Given the description of an element on the screen output the (x, y) to click on. 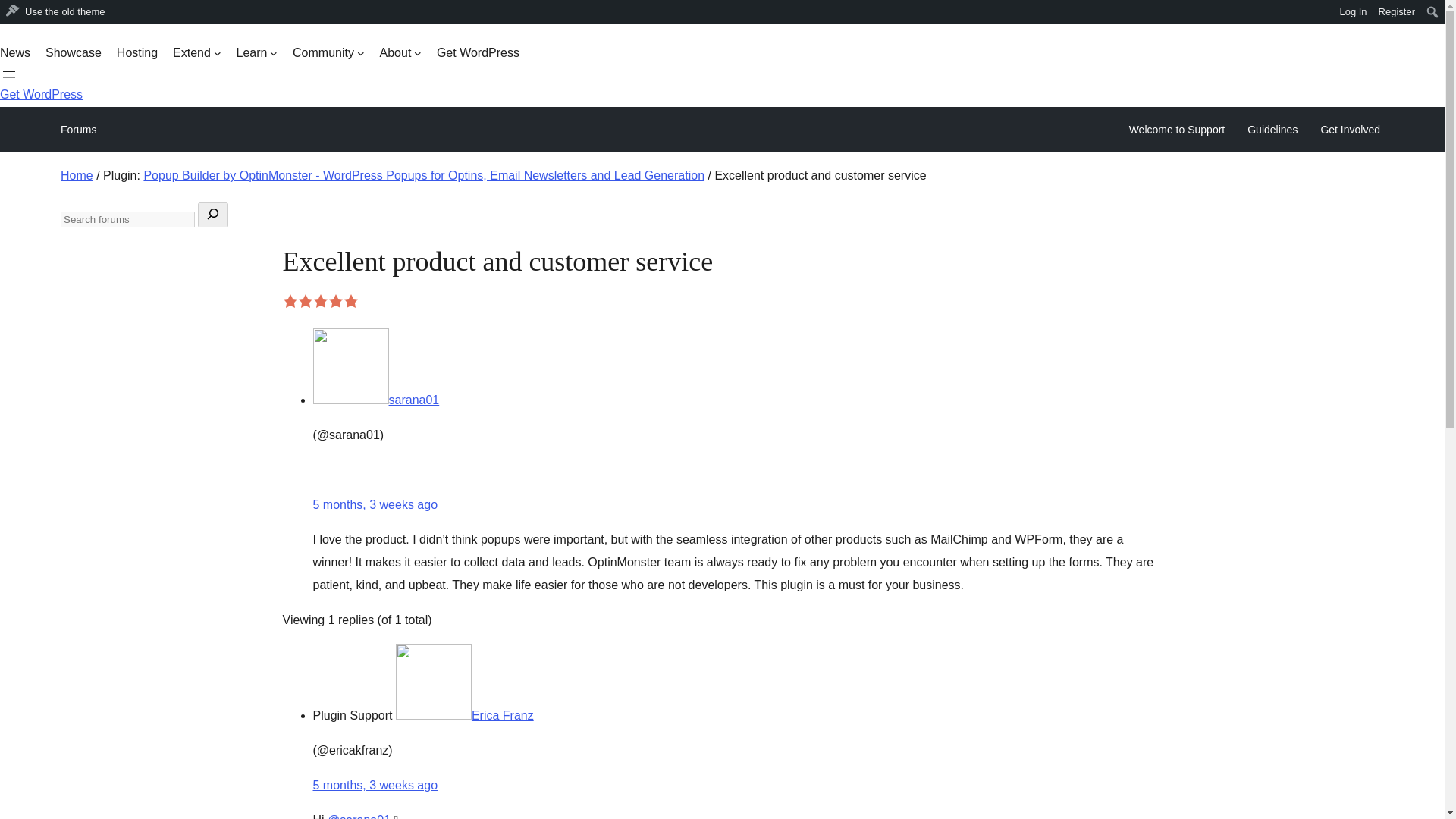
Community (328, 52)
Learn (256, 52)
Get WordPress (41, 93)
February 19, 2024 at 2:22 pm (375, 504)
Get WordPress (477, 52)
Showcase (73, 52)
WordPress.org (10, 16)
Log In (1353, 12)
News (15, 52)
View sarana01's profile (376, 399)
